Given the description of an element on the screen output the (x, y) to click on. 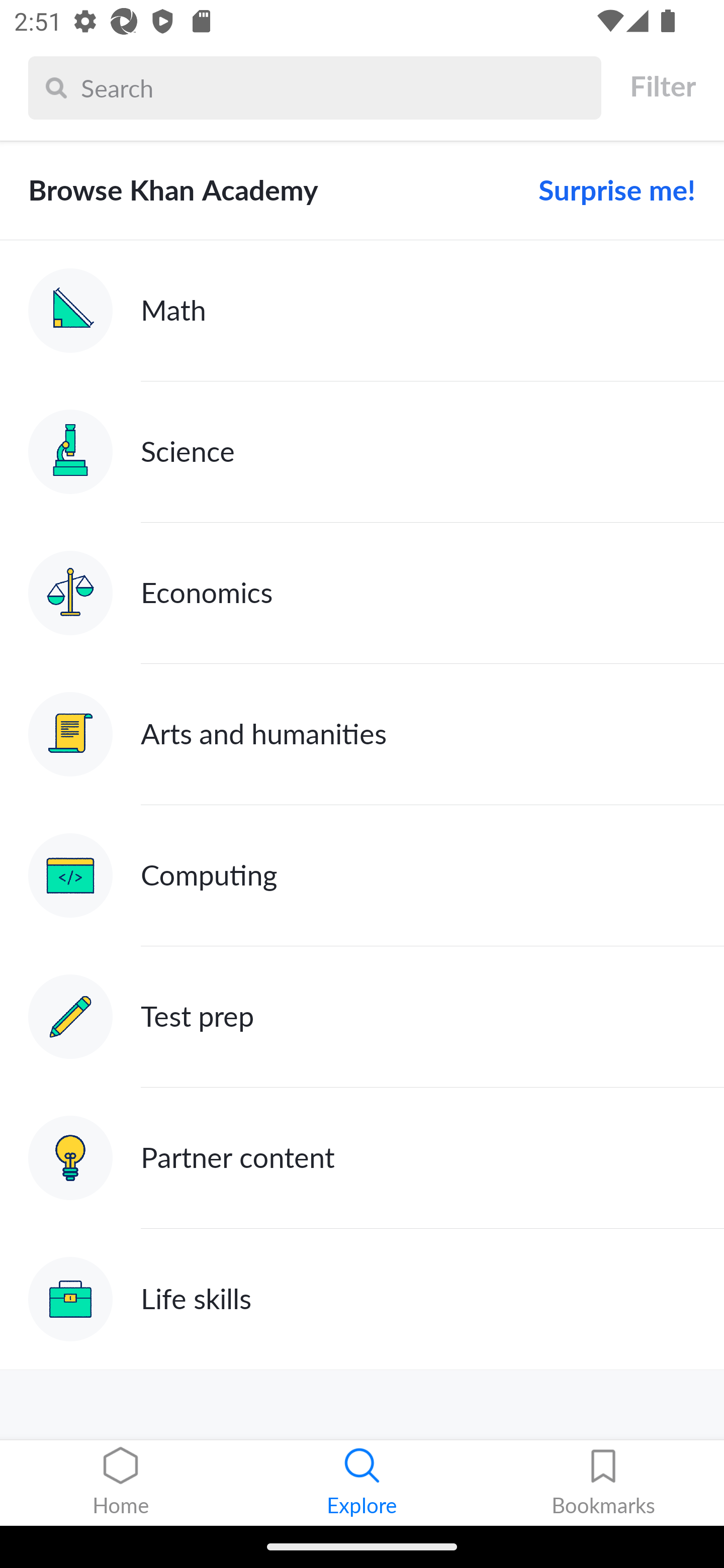
Search Search Search (314, 87)
Search (335, 87)
Filter (662, 85)
Surprise me! (609, 190)
Math (362, 310)
Science (362, 451)
Economics (362, 592)
Arts and humanities (362, 733)
Computing (362, 875)
Test prep (362, 1017)
Partner content (362, 1158)
Life skills (362, 1298)
Home (120, 1482)
Explore (361, 1482)
Bookmarks (603, 1482)
